Given the description of an element on the screen output the (x, y) to click on. 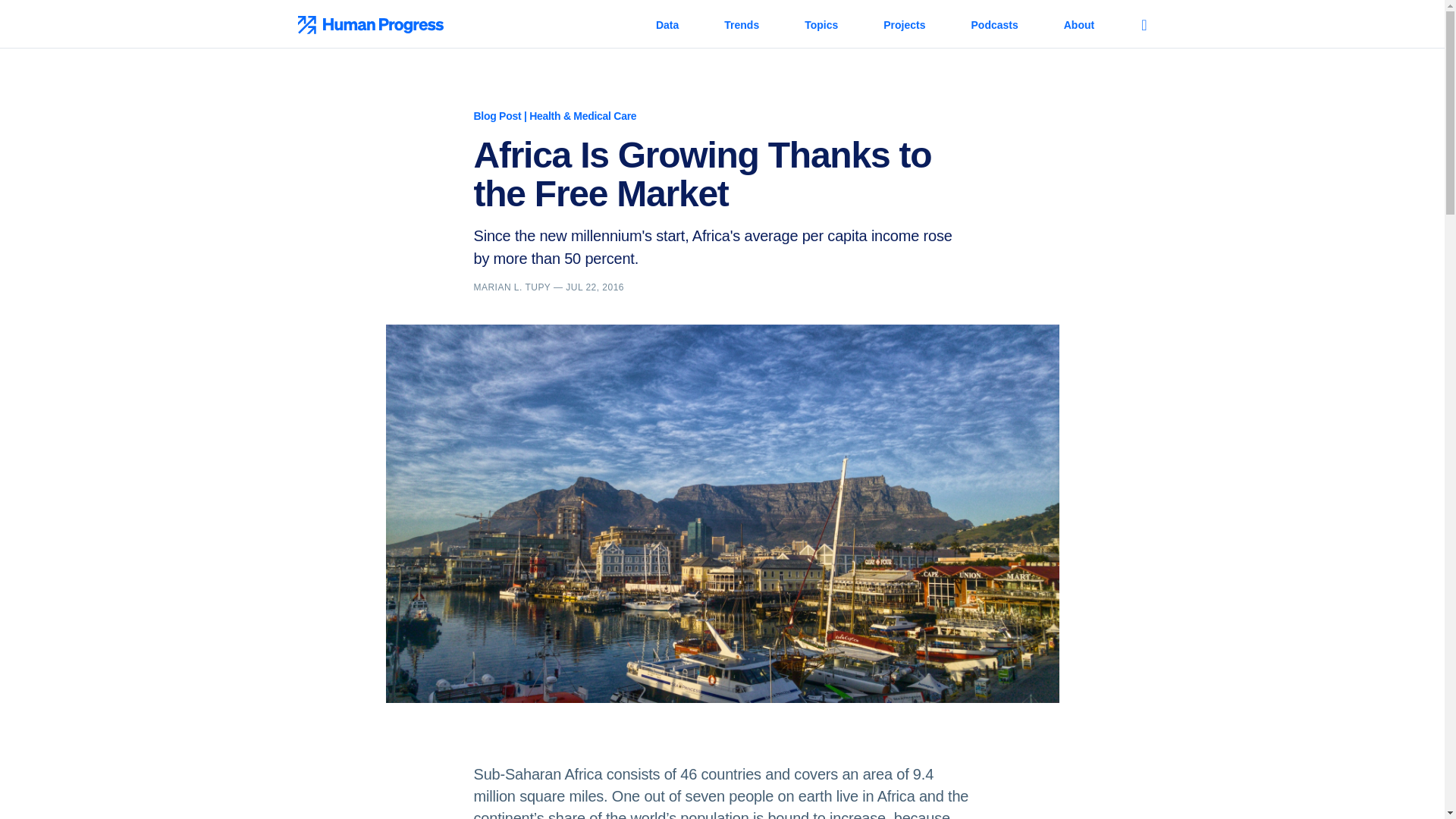
Human Progress (476, 24)
Blog Post (497, 115)
Projects (903, 24)
Trends (740, 24)
Podcasts (994, 24)
